Given the description of an element on the screen output the (x, y) to click on. 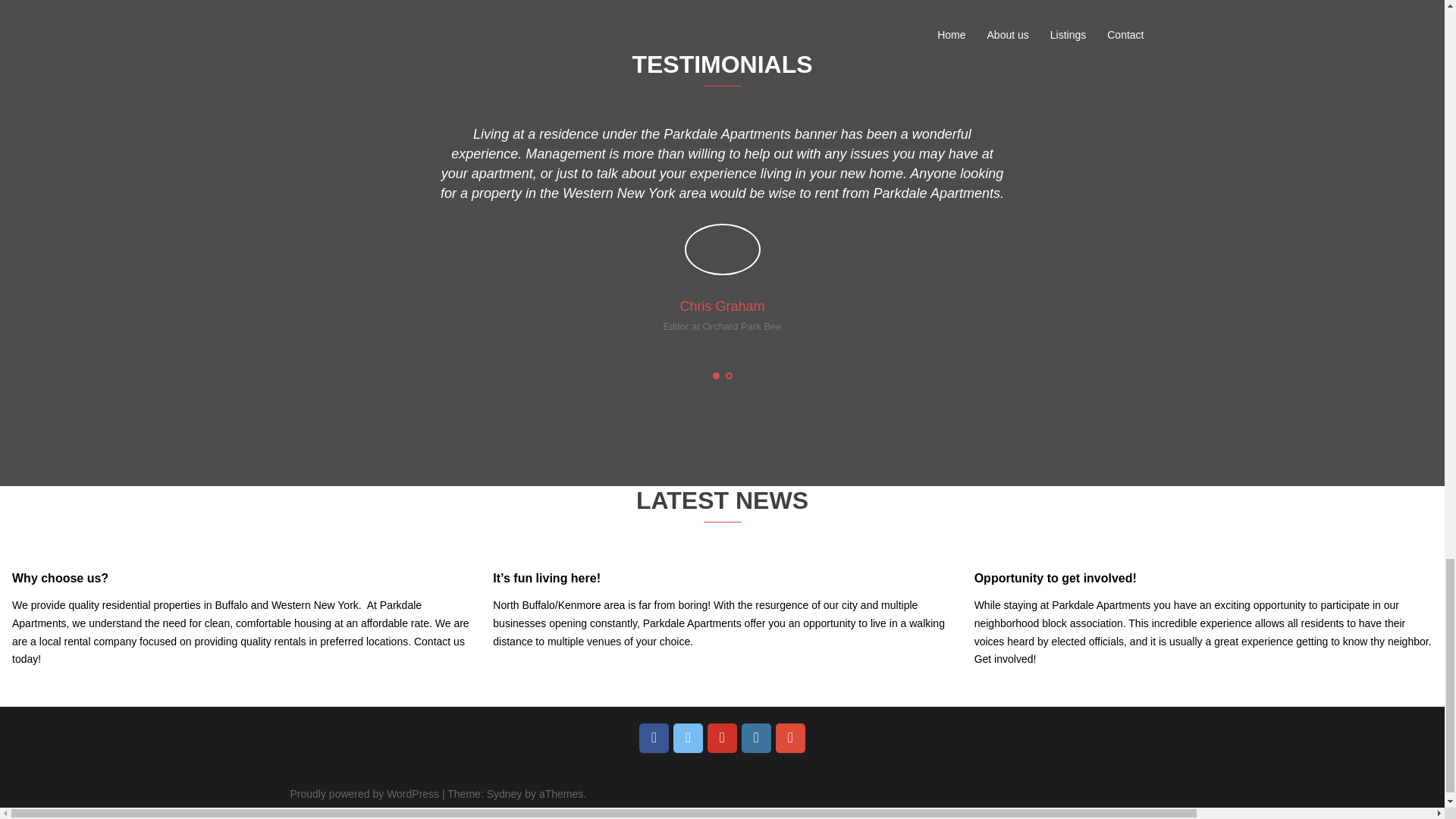
Why choose us? (59, 577)
Parkdale Apartments, LLC on Facebook (653, 737)
Parkdale Apartments, LLC on Google Plus (790, 737)
Opportunity to get involved! (1055, 577)
Parkdale Apartments, LLC on Instagram (756, 737)
Parkdale Apartments, LLC on Twitter (687, 737)
Proudly powered by WordPress (364, 793)
Sydney (504, 793)
Parkdale Apartments, LLC on Youtube (721, 737)
